Given the description of an element on the screen output the (x, y) to click on. 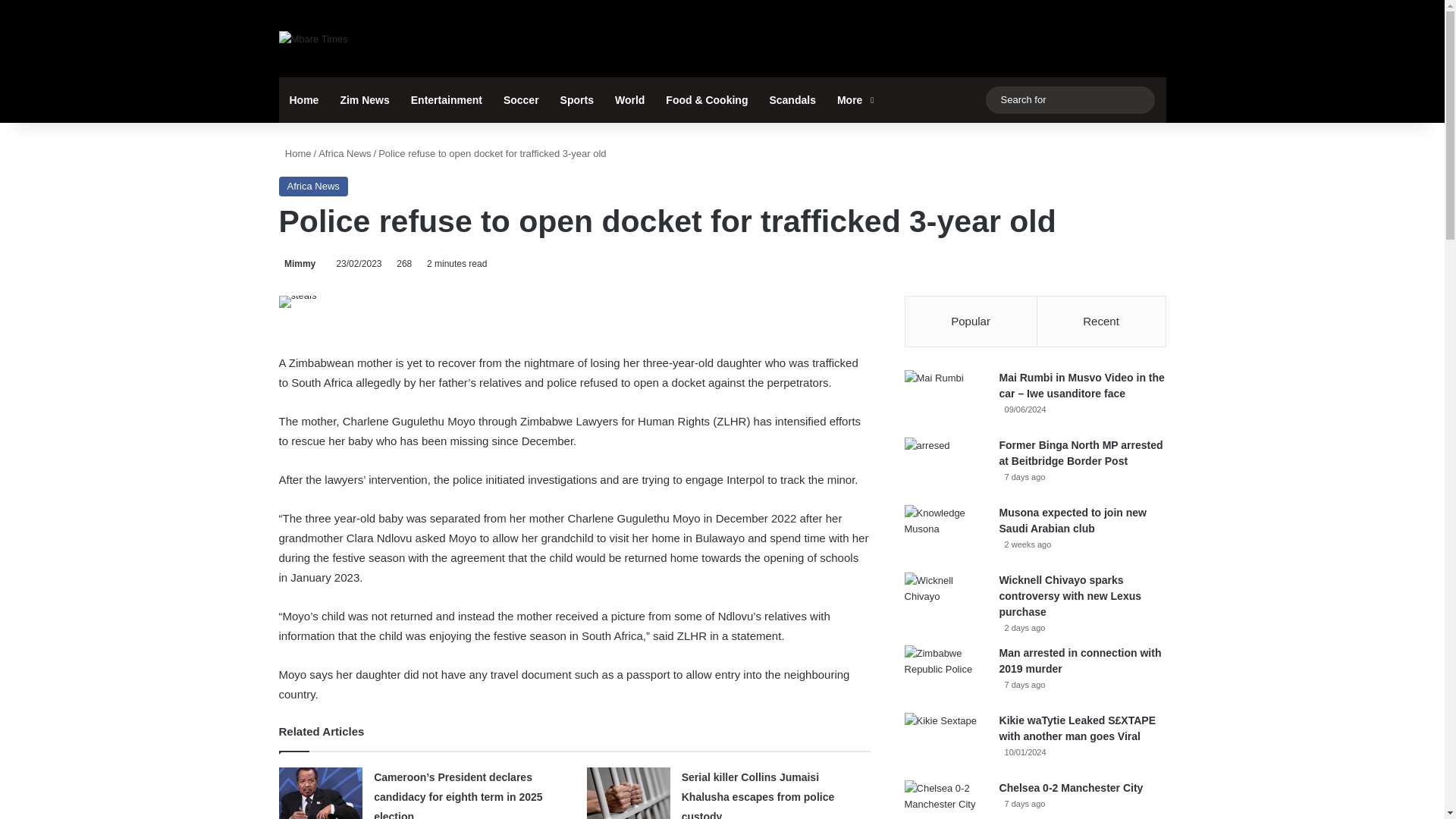
Mimmy (297, 263)
Zim News (363, 99)
Mimmy (297, 263)
Entertainment (446, 99)
More (853, 99)
Home (304, 99)
Scandals (791, 99)
Africa News (313, 186)
Search for (1139, 99)
